Given the description of an element on the screen output the (x, y) to click on. 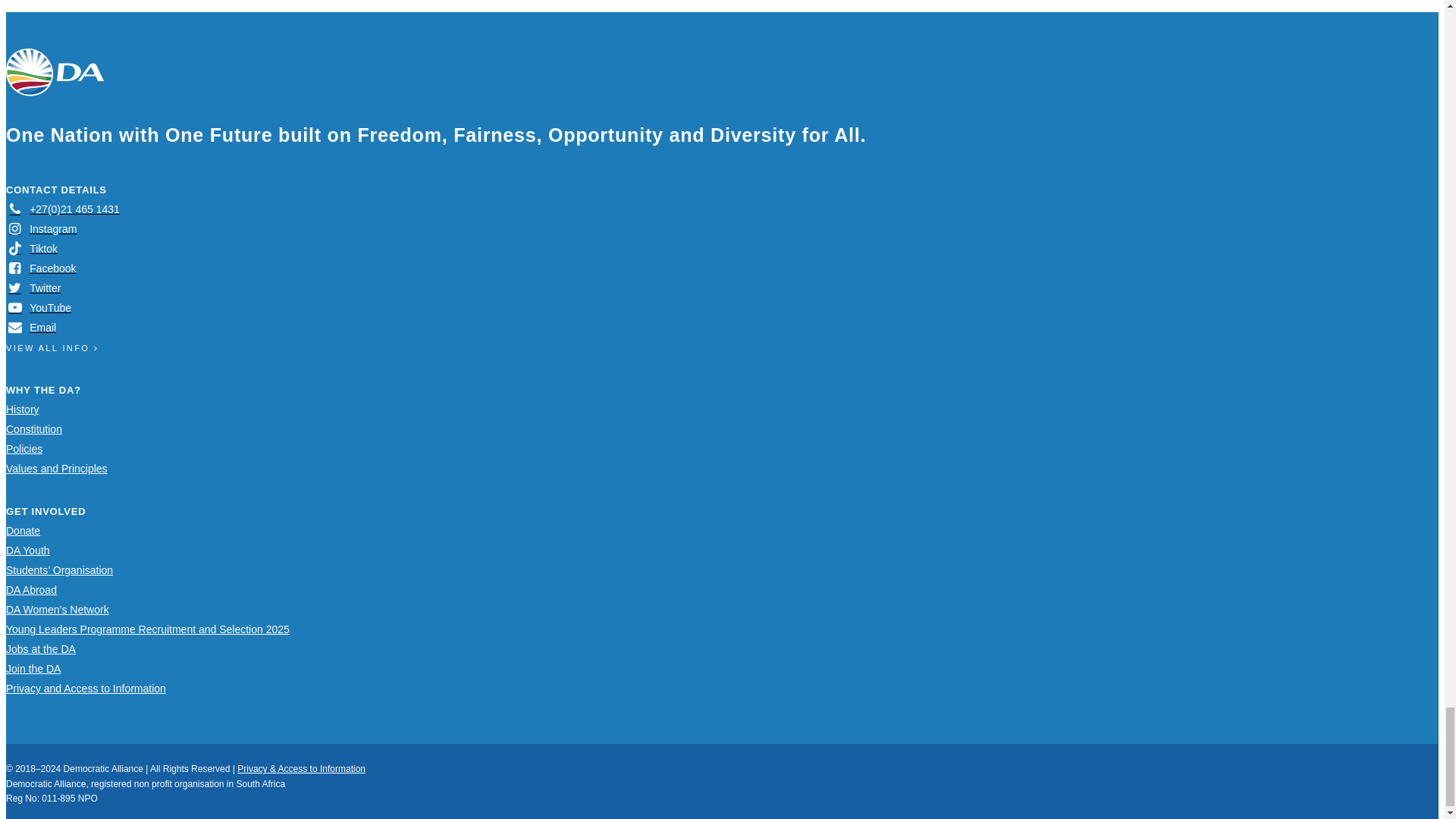
Democratic Alliance Logo (54, 72)
